Given the description of an element on the screen output the (x, y) to click on. 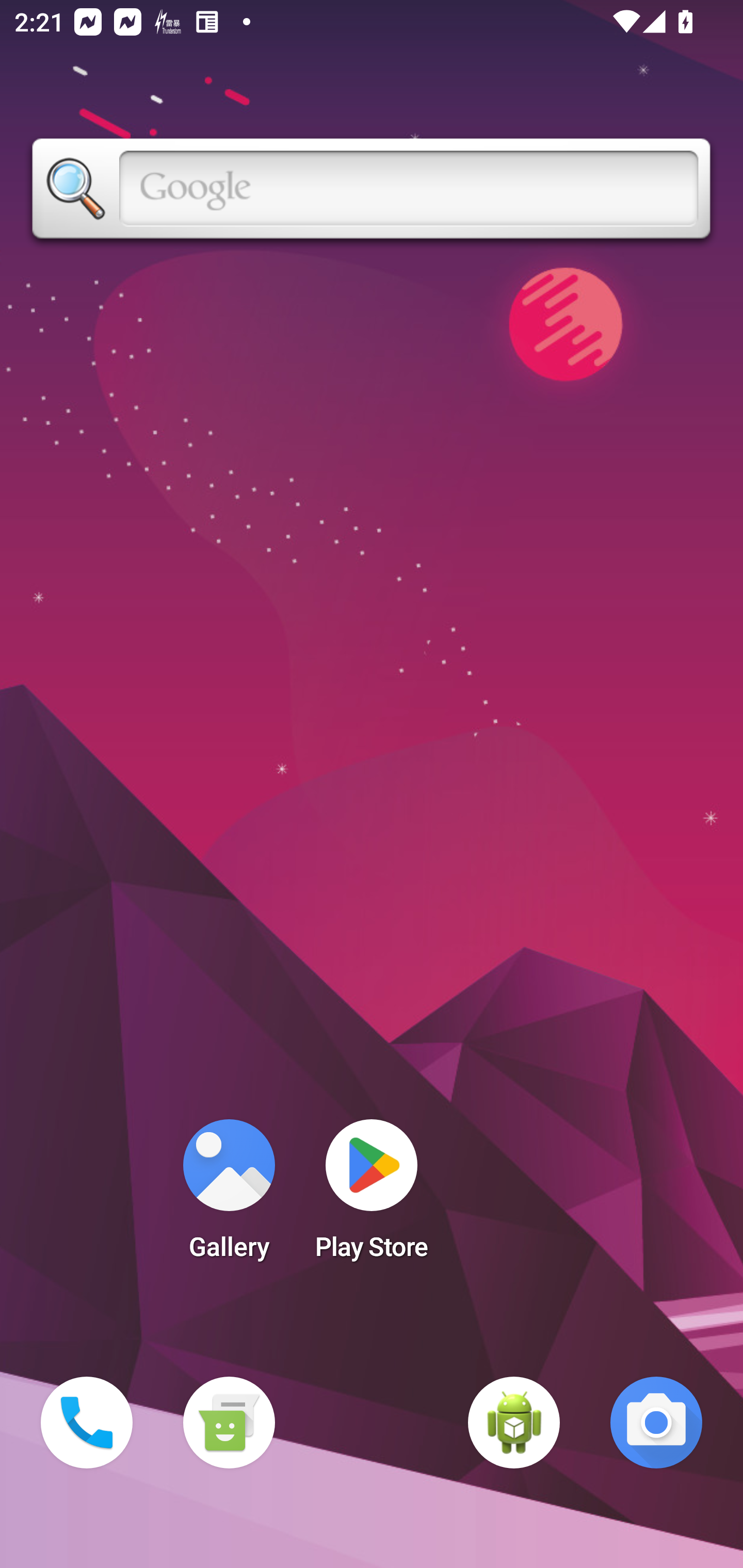
Gallery (228, 1195)
Play Store (371, 1195)
Phone (86, 1422)
Messaging (228, 1422)
WebView Browser Tester (513, 1422)
Camera (656, 1422)
